Given the description of an element on the screen output the (x, y) to click on. 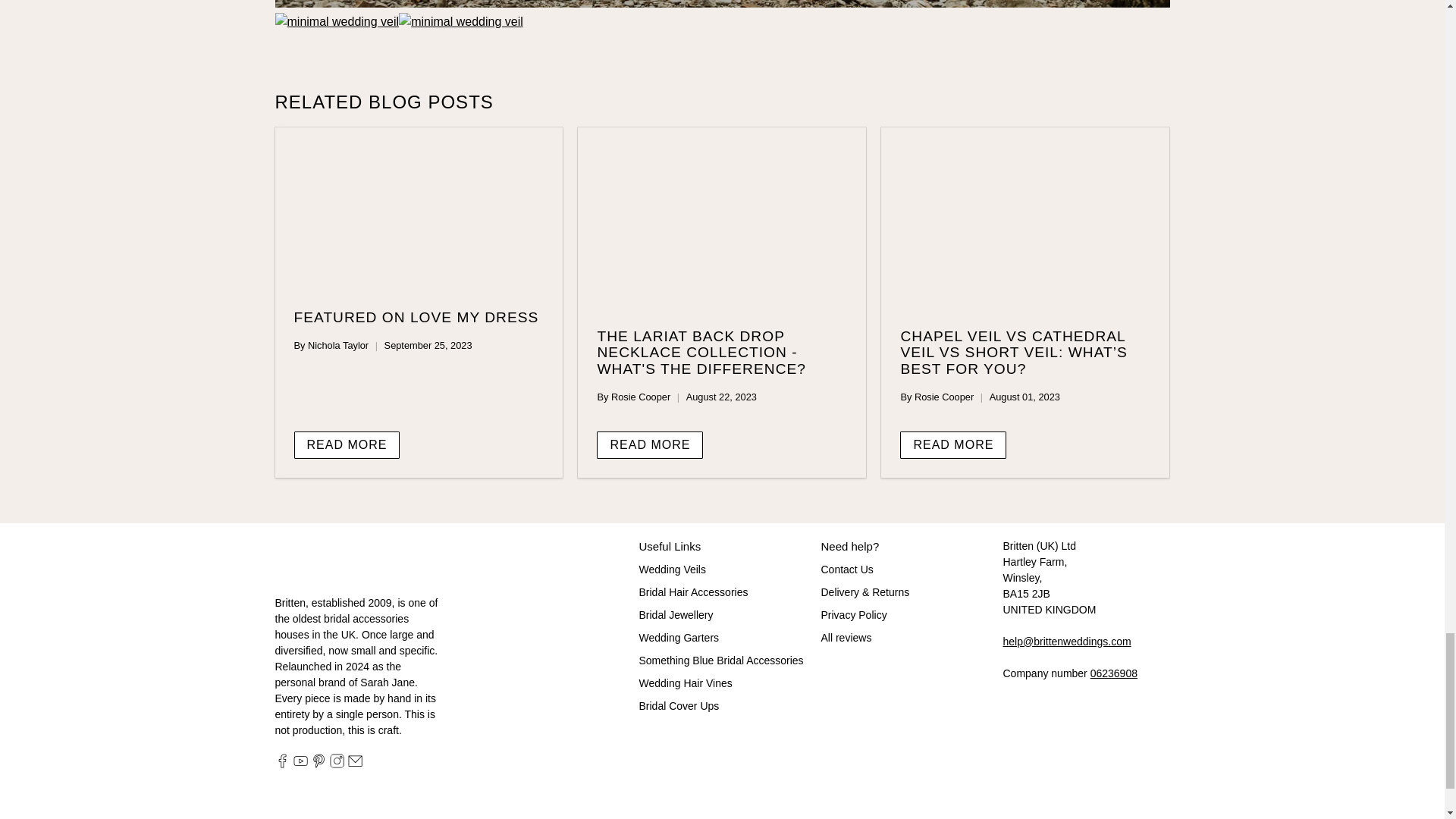
Featured on Love My Dress (416, 317)
Featured on Love My Dress (419, 209)
minimal wedding veil (336, 21)
minimal wedding veil (460, 21)
